Given the description of an element on the screen output the (x, y) to click on. 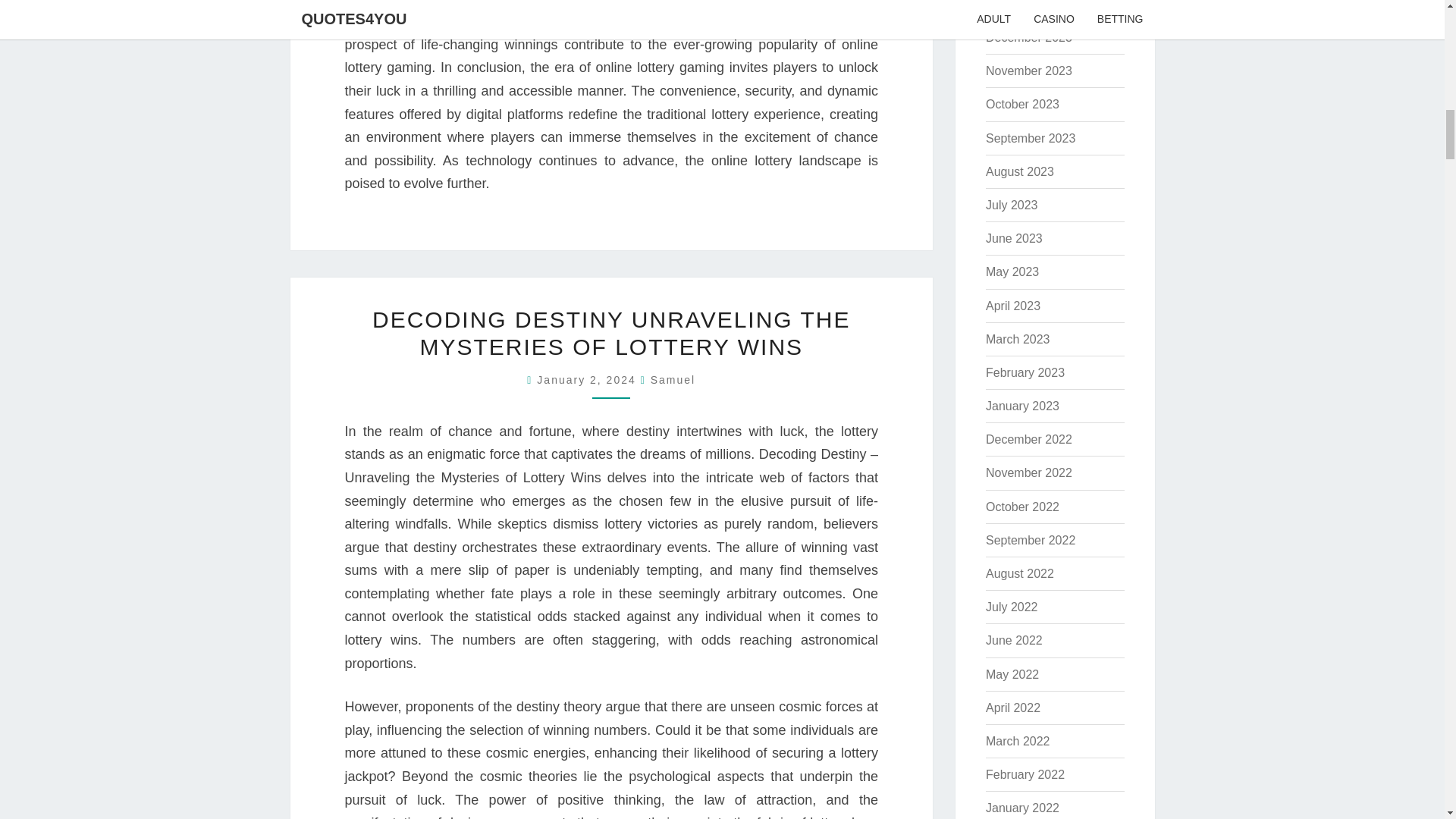
Samuel (672, 379)
View all posts by Samuel (672, 379)
January 2, 2024 (588, 379)
11:48 am (588, 379)
DECODING DESTINY UNRAVELING THE MYSTERIES OF LOTTERY WINS (611, 333)
